Given the description of an element on the screen output the (x, y) to click on. 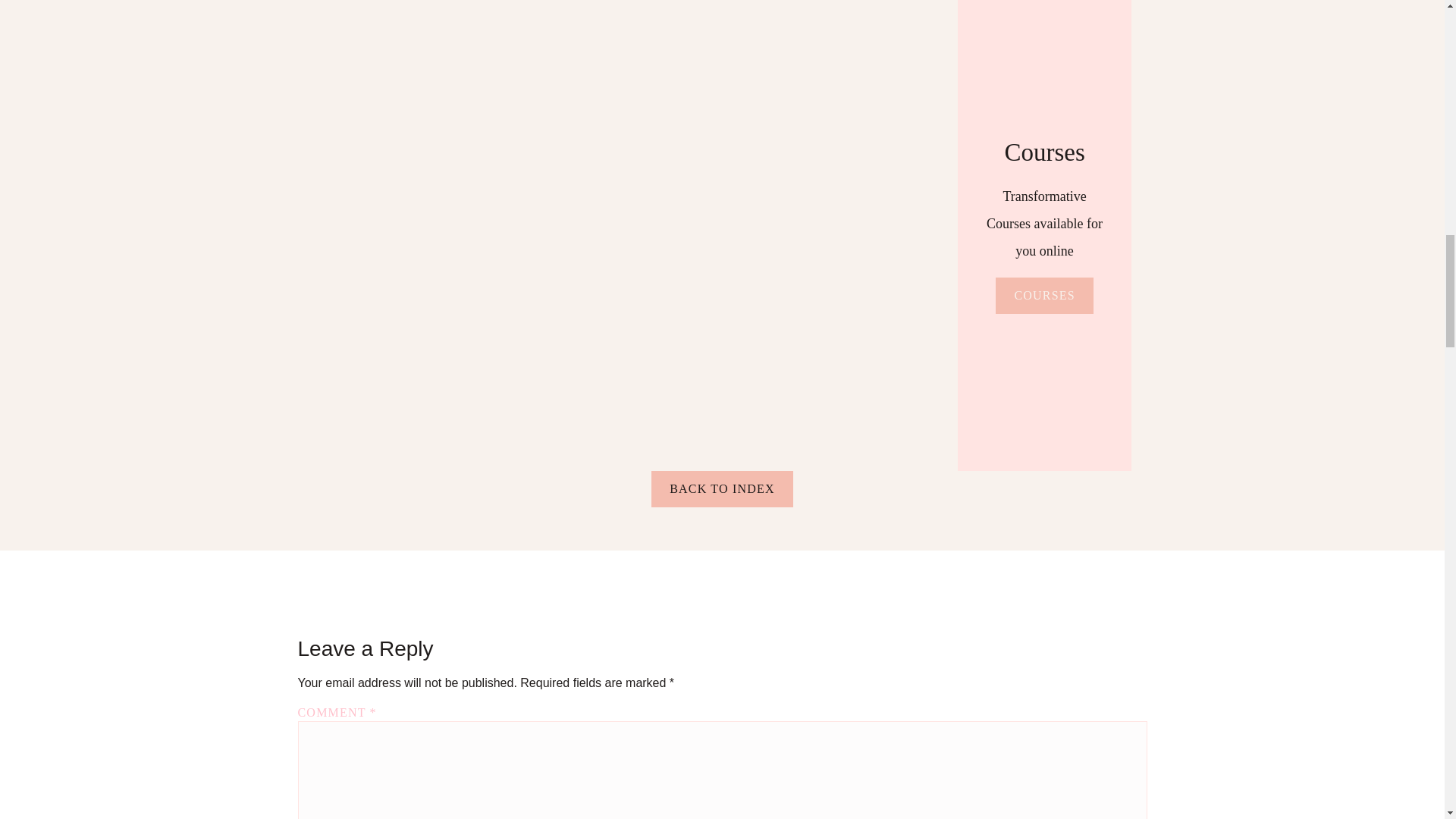
BACK TO INDEX (721, 488)
COURSES (1044, 295)
